Given the description of an element on the screen output the (x, y) to click on. 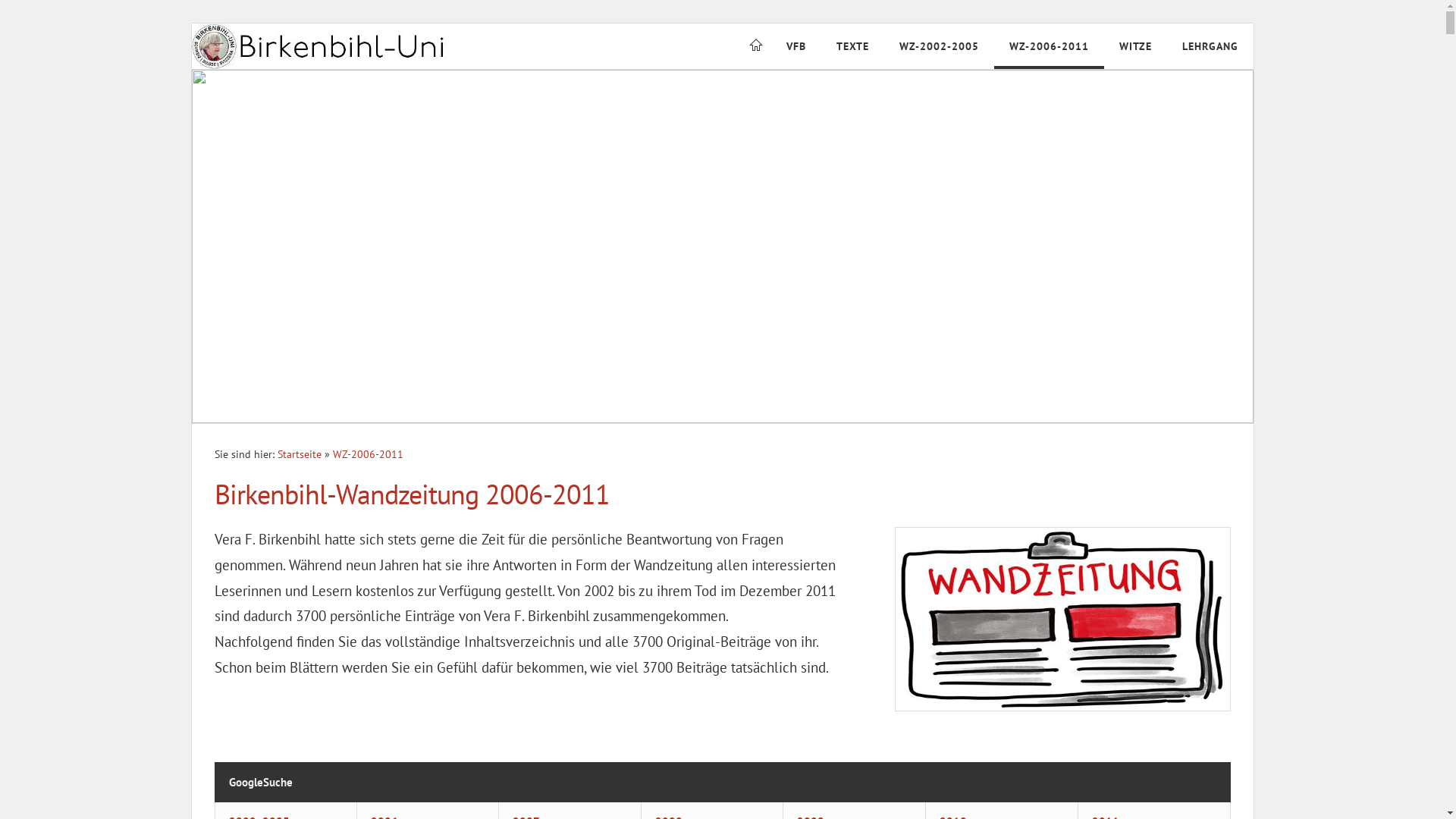
Startseite Element type: text (299, 454)
GoogleSuche Element type: text (260, 782)
WZ-2006-2011 Element type: text (1048, 46)
VFB Element type: text (795, 46)
WITZE Element type: text (1135, 46)
WZ-2002-2005 Element type: text (939, 46)
TEXTE Element type: text (851, 46)
LEHRGANG Element type: text (1209, 46)
WZ-2006-2011 Element type: text (367, 454)
